Given the description of an element on the screen output the (x, y) to click on. 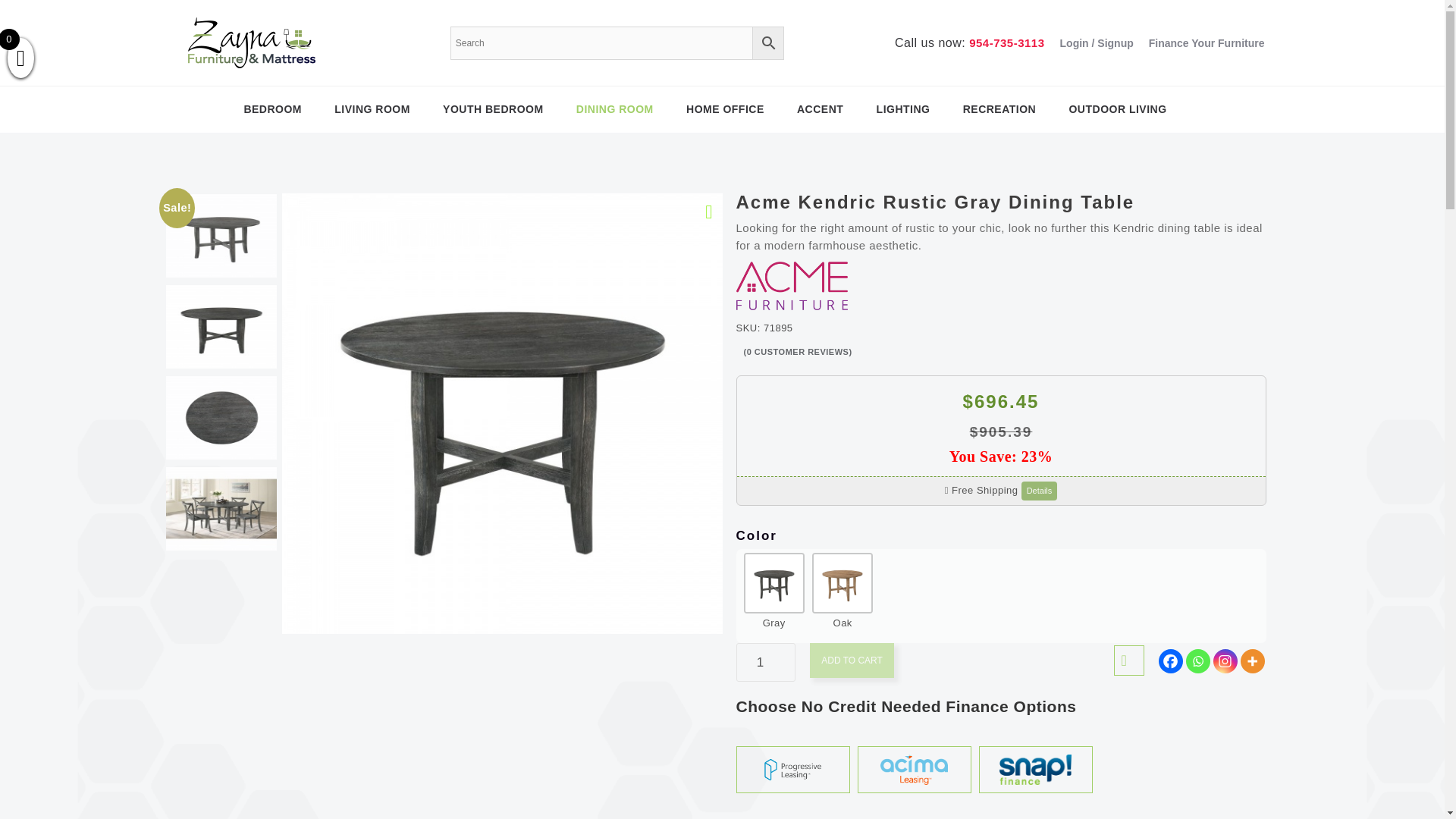
Whatsapp (1197, 661)
Instagram (1224, 661)
Acme Kendric Rustic Gray Dining Table 4 (220, 508)
1 (764, 661)
Acme Kendric Rustic Gray Dining Table 2 (220, 326)
Acme Kendric Rustic Gray Dining Table 3 (220, 417)
Facebook (1170, 661)
Acme Kendric Rustic Gray Dining Table 1 (220, 235)
More (1252, 661)
